Given the description of an element on the screen output the (x, y) to click on. 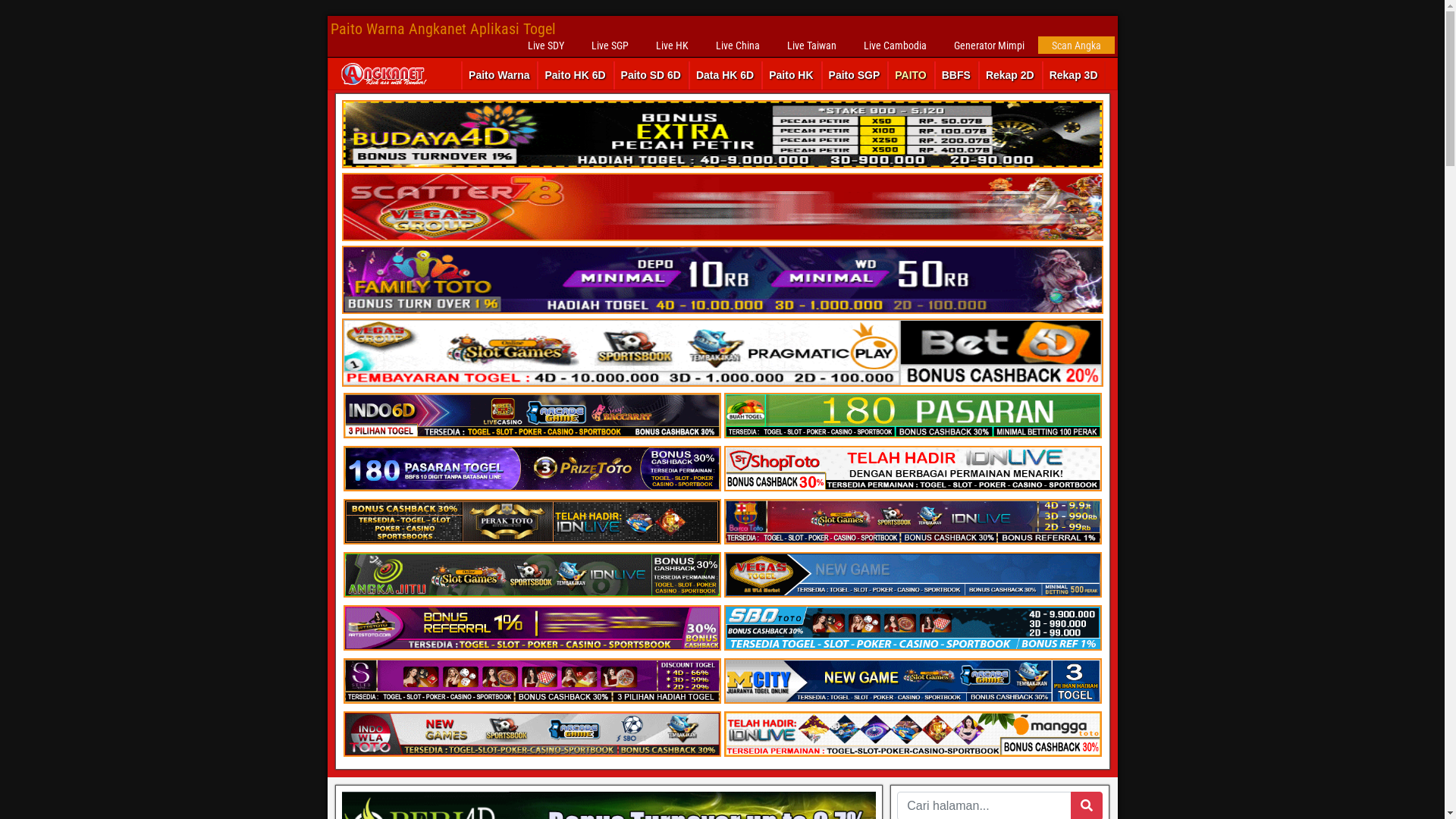
Paito Warna Angkanet Aplikasi Togel Element type: text (442, 28)
Generator Mimpi Element type: text (989, 45)
Rekap 2D Element type: text (1009, 75)
BBFS Element type: text (955, 75)
Bandar Judi Online Terpercaya SBOTOTO Element type: hover (912, 627)
Bandar Judi Online Terpercaya FAMILYTOTO Element type: hover (721, 279)
Live SDY Element type: text (545, 45)
Bandar Judi Online Terpercaya BUAHTOGEL Element type: hover (912, 415)
Bandar Judi Online Terpercaya PERAKTOTO Element type: hover (531, 521)
Paito Warna Element type: text (498, 75)
Bandar Judi Online Terpercaya INDO6D Element type: hover (531, 415)
Bandar Judi Online Terpercaya indowlatoto Element type: hover (531, 733)
Bandar Judi Online Terpercaya 3PRIZETOTO Element type: hover (531, 468)
Bandar Judi Online Terpercaya selebtoto Element type: hover (531, 680)
Bandar Judi Online Terpercaya SCATTER78 Element type: hover (721, 206)
Paito HK Element type: text (790, 75)
Live SGP Element type: text (609, 45)
Paito HK 6D Element type: text (574, 75)
Bandar Judi Online Terpercaya ARTISTOTO Element type: hover (531, 627)
Live HK Element type: text (671, 45)
Bandar Judi Online Terpercaya mcitytoto Element type: hover (912, 680)
Data HK 6D Element type: text (724, 75)
Live China Element type: text (737, 45)
PAITO Element type: text (910, 75)
Live Cambodia Element type: text (894, 45)
Bandar Judi Online Terpercaya BARCATOTO Element type: hover (912, 521)
Bandar Judi Online Terpercaya BET6D Element type: hover (721, 352)
Bandar Judi Online Terpercaya ANGKAJITUTOTO Element type: hover (531, 574)
Scan Angka Element type: text (1075, 45)
Bandar Judi Online Terpercaya VEGASTOGEL Element type: hover (912, 574)
Bandar Judi Online Terpercaya indowlatoto Element type: hover (912, 733)
Bandar Judi Online Terpercaya FAMILYTOTO Element type: hover (721, 134)
Bandar Judi Online Terpercaya SHOPTOTO Element type: hover (912, 468)
Rekap 3D Element type: text (1073, 75)
Live Taiwan Element type: text (811, 45)
Paito SD 6D Element type: text (651, 75)
Paito SGP Element type: text (854, 75)
